Given the description of an element on the screen output the (x, y) to click on. 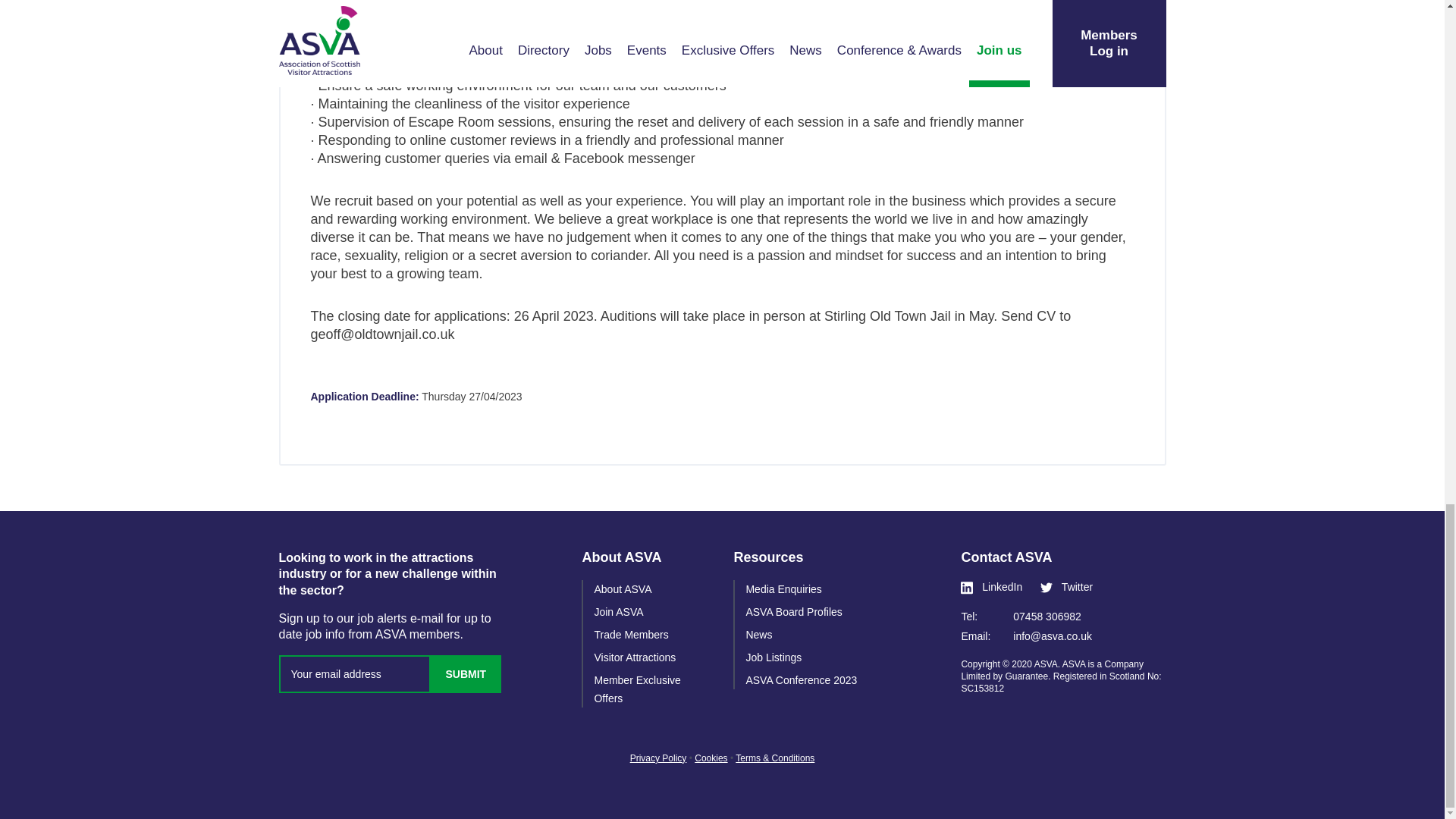
Job Listings (773, 657)
Cookies (710, 757)
Visitor Attractions (634, 657)
Privacy Policy (658, 757)
Member Exclusive Offers (636, 689)
About ASVA (622, 589)
News (758, 634)
SUBMIT (466, 673)
Trade Members (631, 634)
ASVA Board Profiles (793, 612)
